Given the description of an element on the screen output the (x, y) to click on. 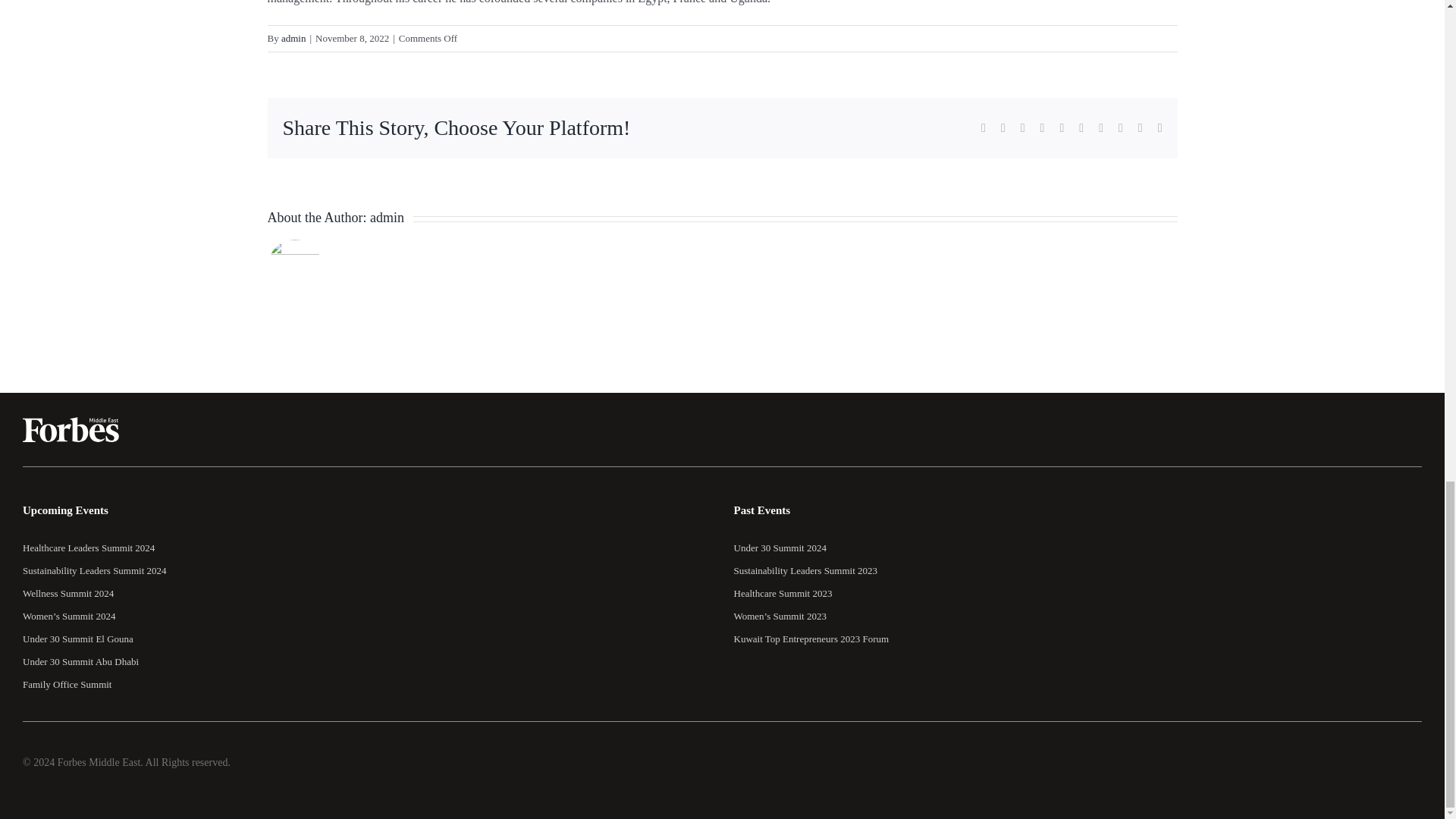
Family Office Summit (67, 684)
Sustainability Leaders Summit 2024 (95, 570)
Under 30 Summit 2024 (780, 547)
Wellness Summit 2024 (68, 593)
Kuwait Top Entrepreneurs 2023 Forum (811, 638)
Sustainability Leaders Summit 2023 (805, 570)
Under 30 Summit Abu Dhabi (80, 661)
admin (293, 38)
admin (386, 217)
Healthcare Leaders Summit 2024 (88, 547)
